Given the description of an element on the screen output the (x, y) to click on. 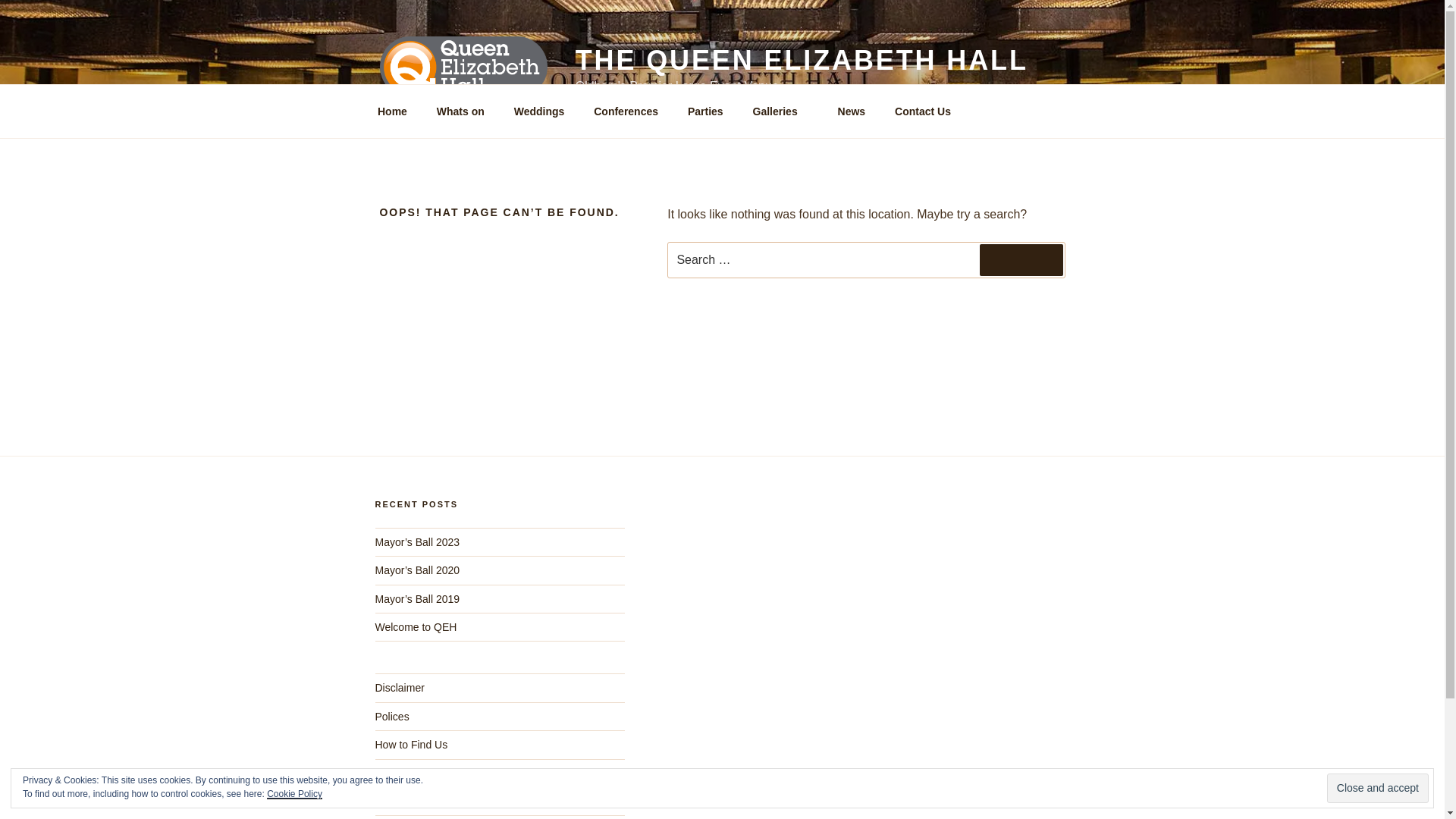
Our Venues (402, 773)
Close and accept (1377, 788)
Weddings (539, 110)
Close and accept (1377, 788)
Contact Us (922, 110)
Disclaimer (398, 687)
How to Find Us (410, 744)
Galleries (780, 110)
Conferences (625, 110)
Search (1020, 260)
Parties (705, 110)
Contact Us (400, 801)
Home (392, 110)
THE QUEEN ELIZABETH HALL (801, 60)
Cookie Policy (293, 793)
